Given the description of an element on the screen output the (x, y) to click on. 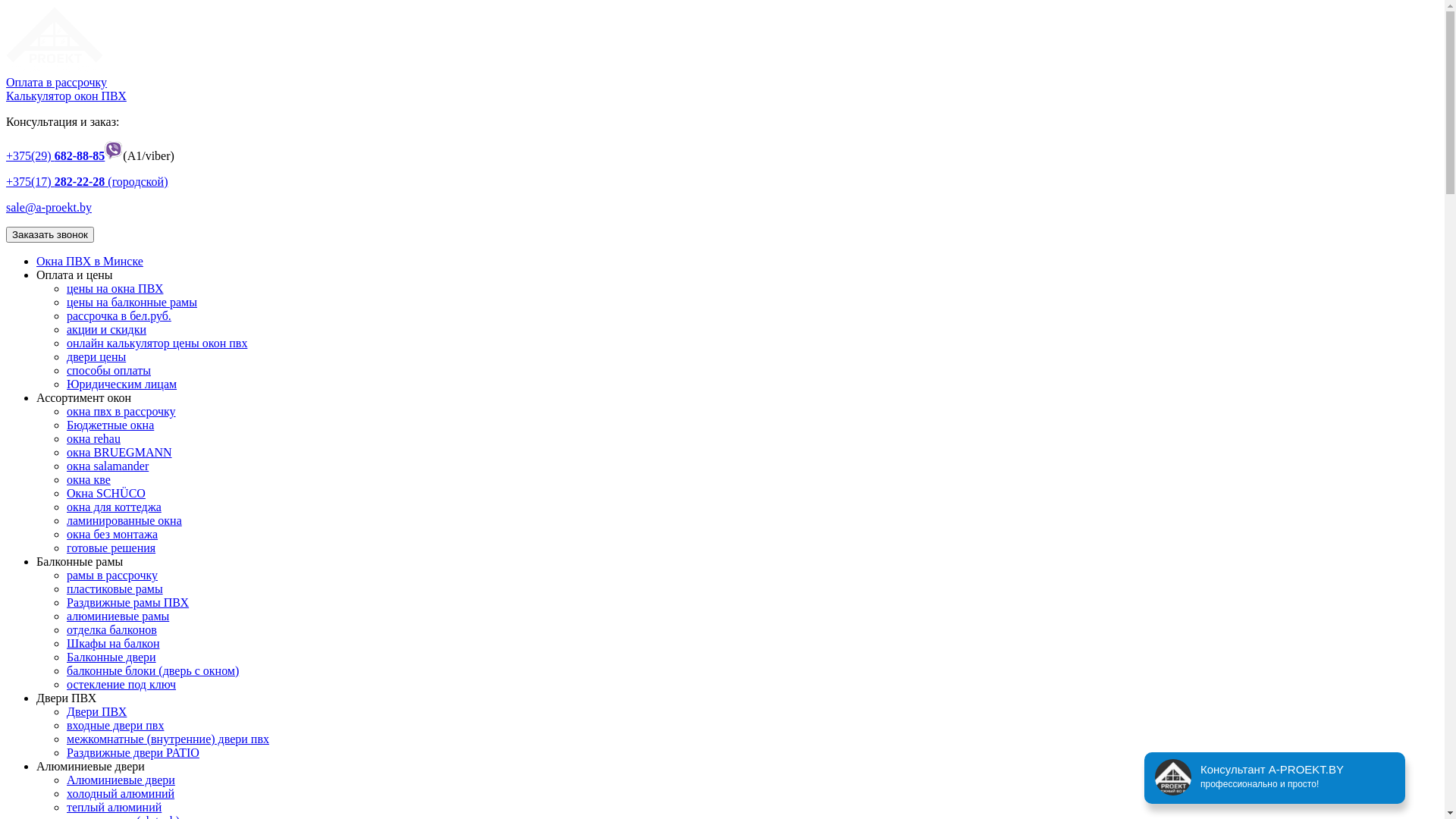
Viber Element type: hover (113, 155)
sale@a-proekt.by Element type: text (48, 206)
+375(29) 682-88-85 Element type: text (55, 155)
